Given the description of an element on the screen output the (x, y) to click on. 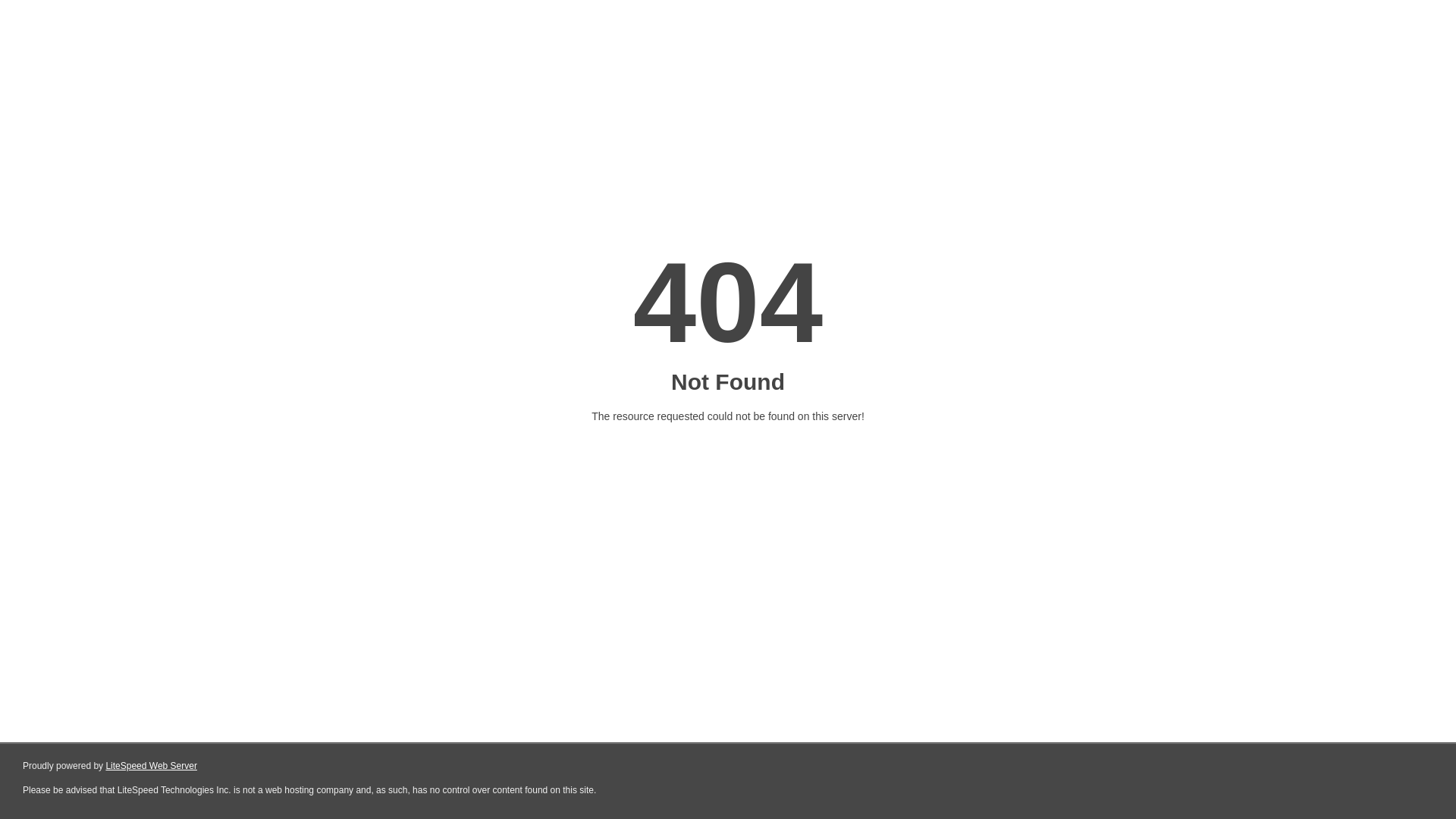
LiteSpeed Web Server Element type: text (151, 765)
